Given the description of an element on the screen output the (x, y) to click on. 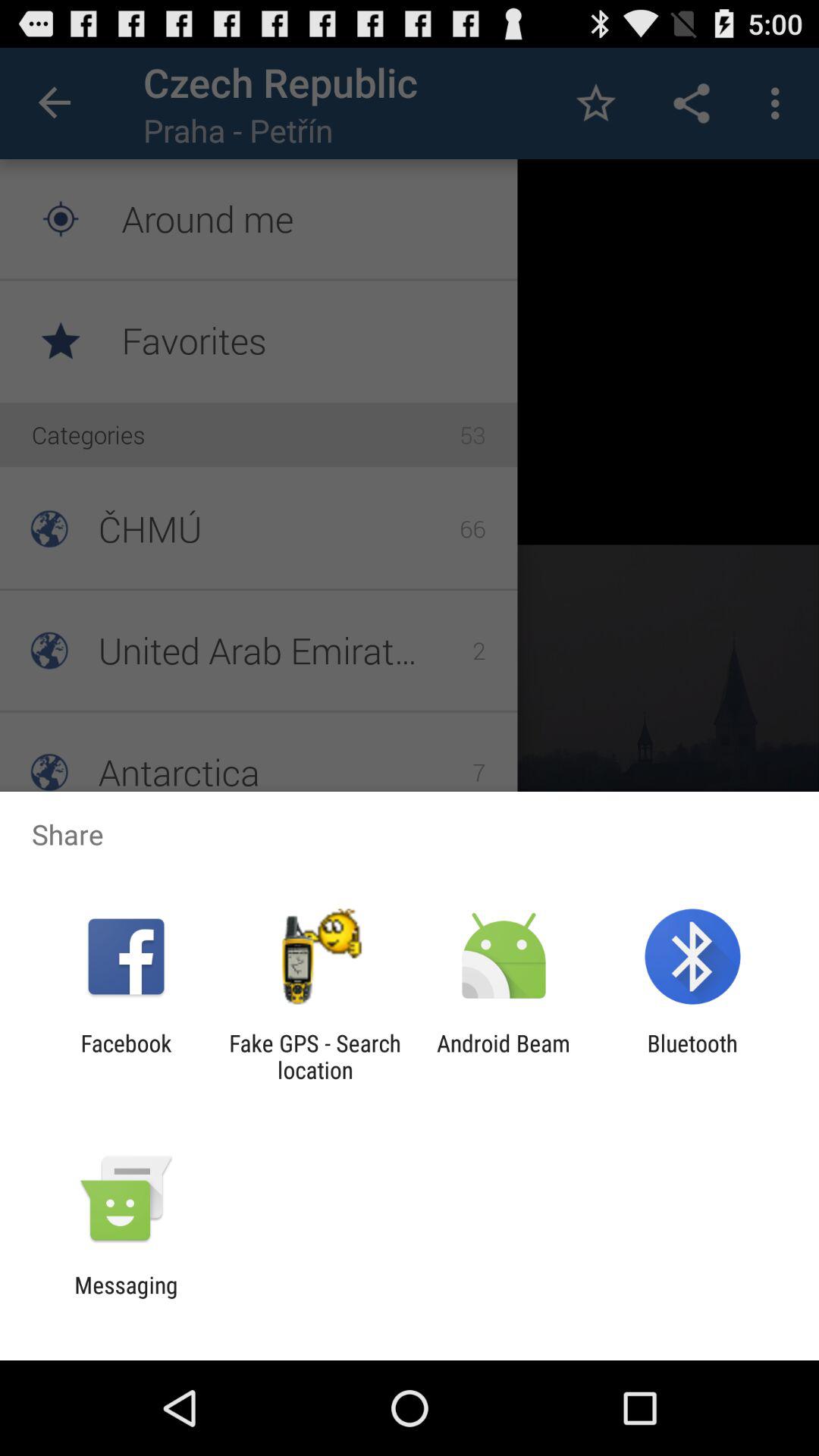
tap the app to the right of the fake gps search item (503, 1056)
